Given the description of an element on the screen output the (x, y) to click on. 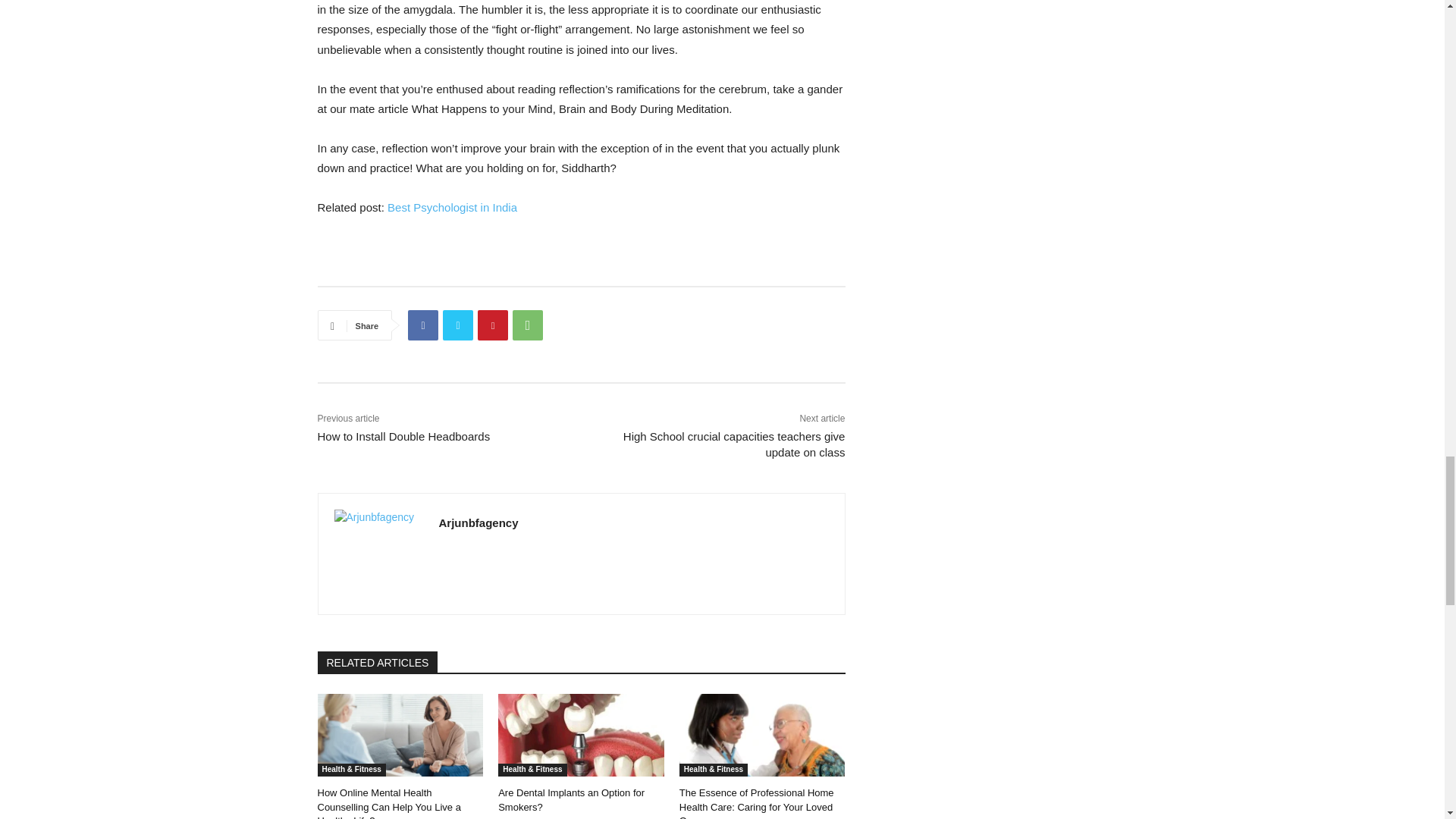
Facebook (422, 325)
